Given the description of an element on the screen output the (x, y) to click on. 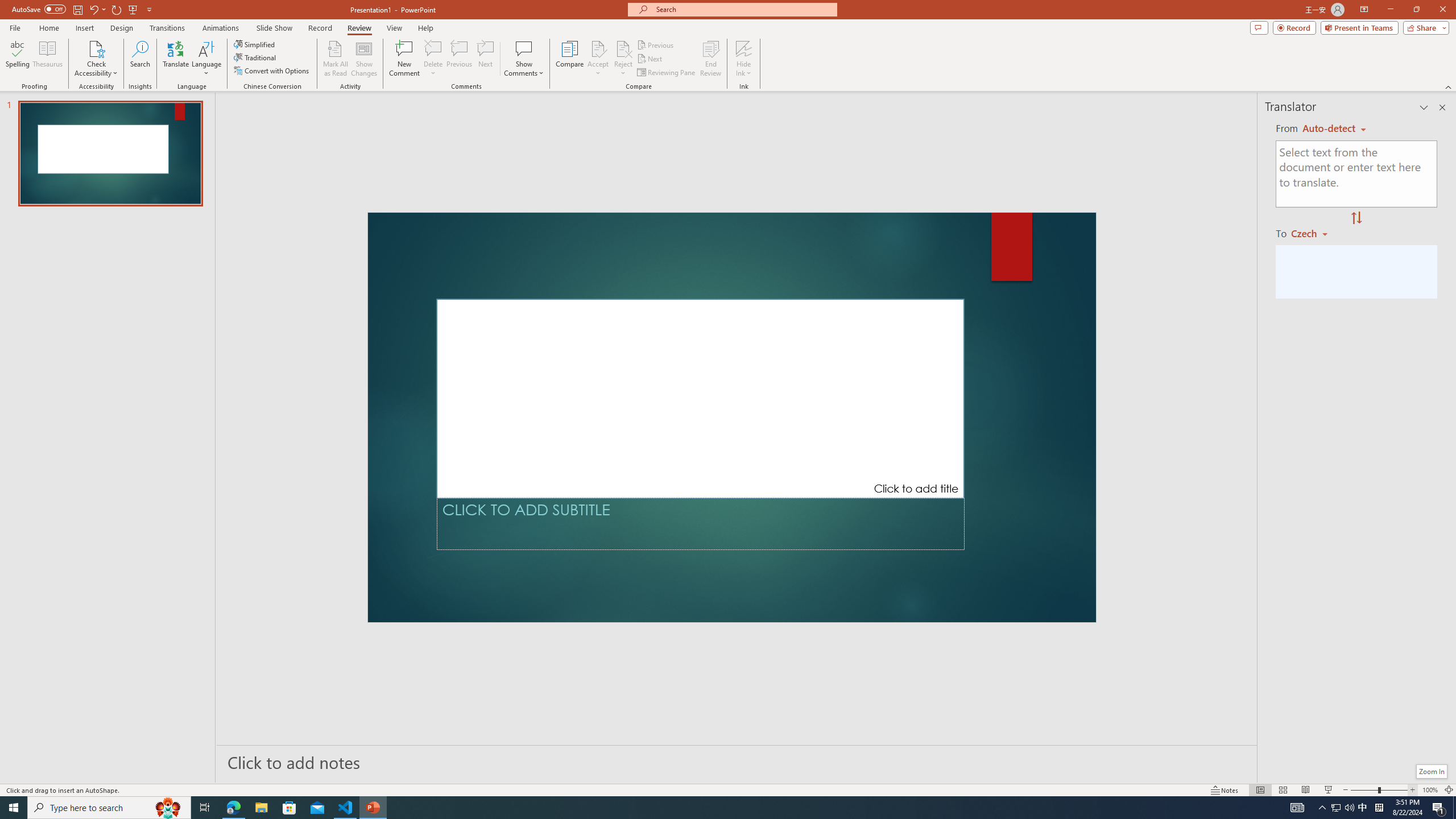
Spelling... (17, 58)
Swap "from" and "to" languages. (1355, 218)
File Tab (15, 27)
More Options (743, 68)
Zoom In (1412, 790)
Design (122, 28)
Search (140, 58)
Zoom to Fit  (1449, 790)
Minimize (1390, 9)
Simplified (254, 44)
Mark All as Read (335, 58)
Home (48, 28)
